Given the description of an element on the screen output the (x, y) to click on. 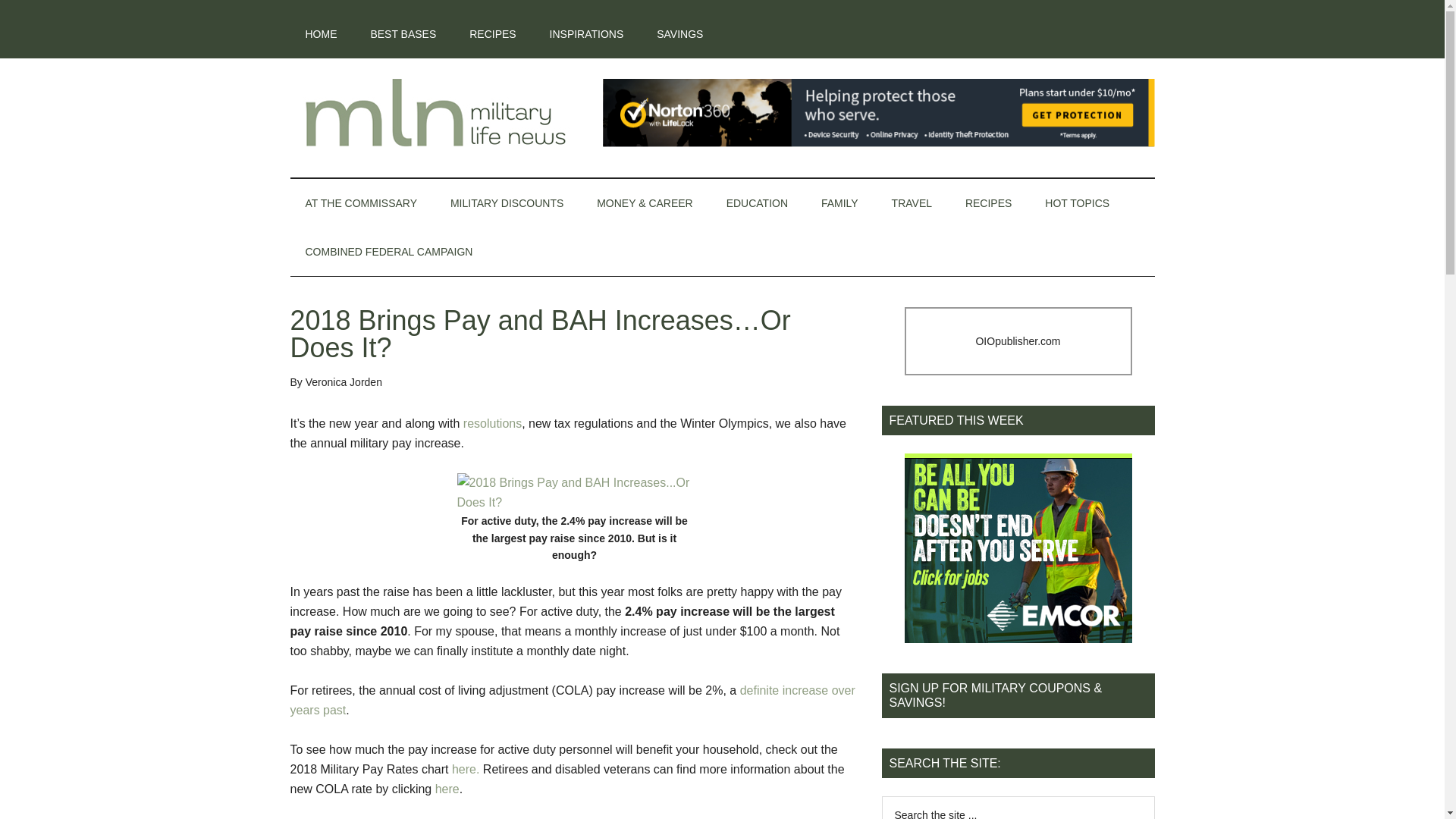
Military Life News (433, 112)
OIOpublisher.com (1017, 341)
SAVINGS (679, 33)
TRAVEL (911, 203)
COMBINED FEDERAL CAMPAIGN (388, 251)
MILITARY DISCOUNTS (506, 203)
HOT TOPICS (1076, 203)
FAMILY (839, 203)
BEST BASES (403, 33)
INSPIRATIONS (586, 33)
AT THE COMMISSARY (360, 203)
resolutions (492, 422)
EDUCATION (757, 203)
Veronica Jorden (343, 381)
